Given the description of an element on the screen output the (x, y) to click on. 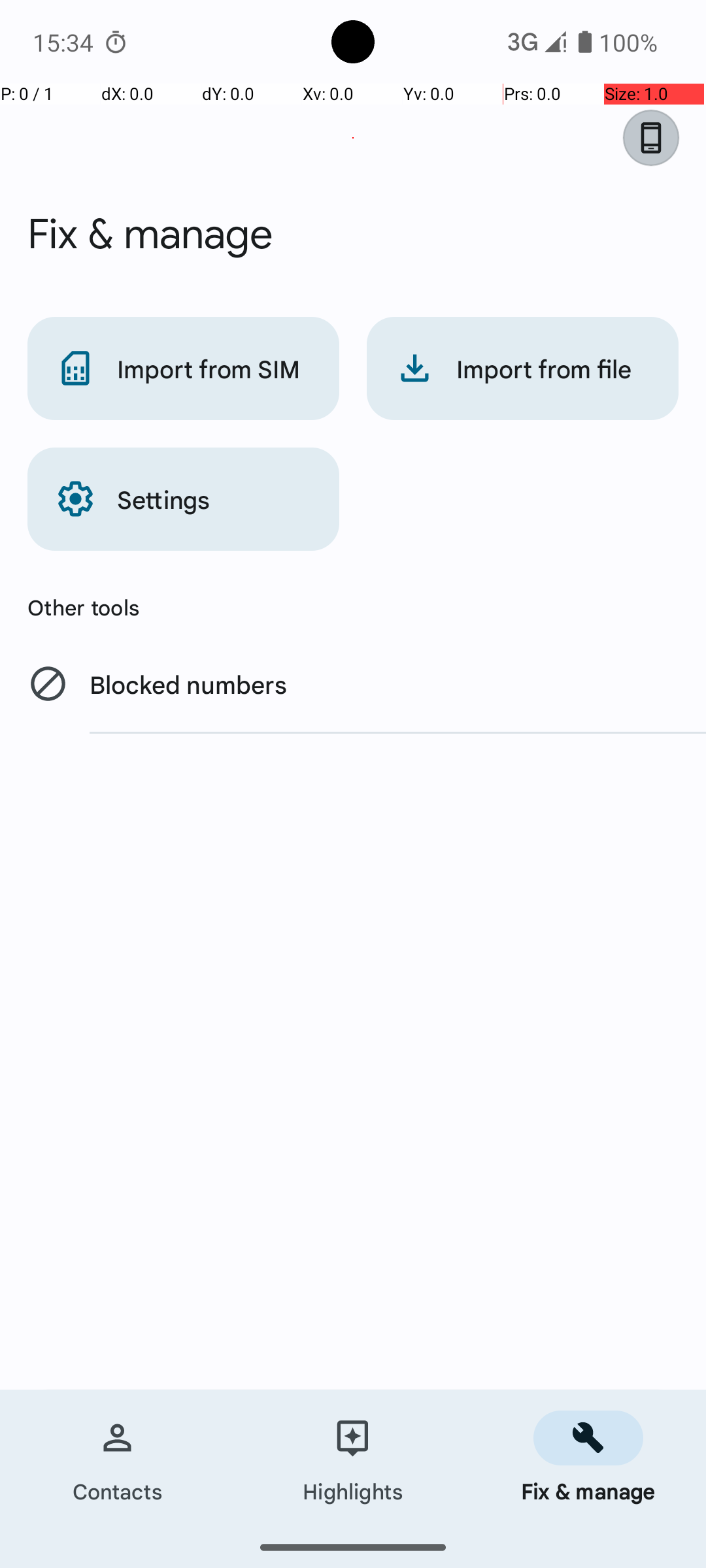
Other tools Element type: android.widget.TextView (353, 606)
Import from SIM Element type: android.widget.TextView (183, 368)
Import from file Element type: android.widget.TextView (522, 368)
Blocked numbers Element type: android.widget.TextView (353, 683)
